Given the description of an element on the screen output the (x, y) to click on. 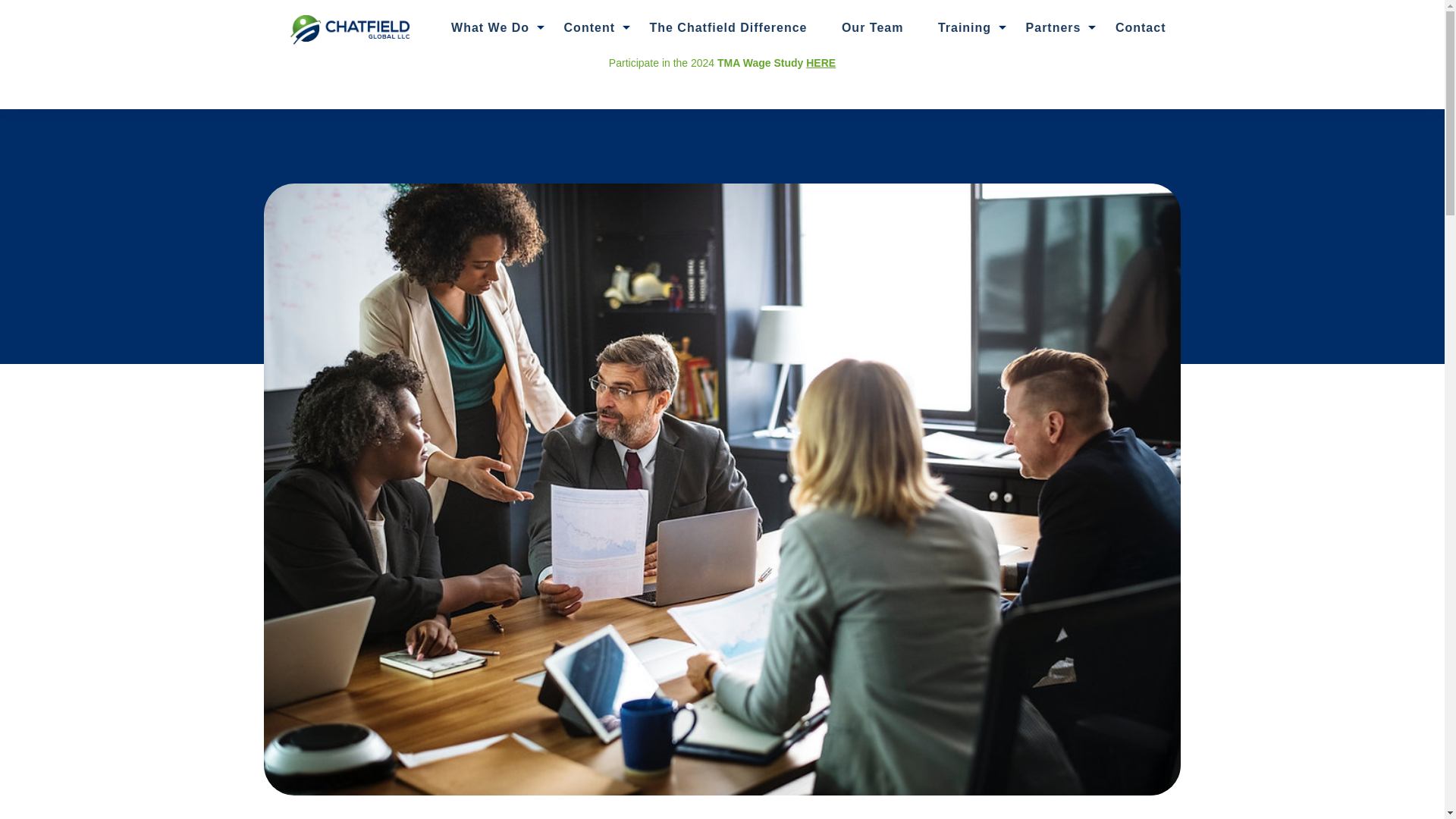
What We Do (490, 27)
Chat Field (350, 28)
Content (589, 27)
Our Team (872, 27)
Participate in the 2024 TMA Wage Study HERE (721, 62)
Training (964, 27)
The Chatfield Difference (727, 27)
Partners (1053, 27)
Contact (1140, 27)
